Given the description of an element on the screen output the (x, y) to click on. 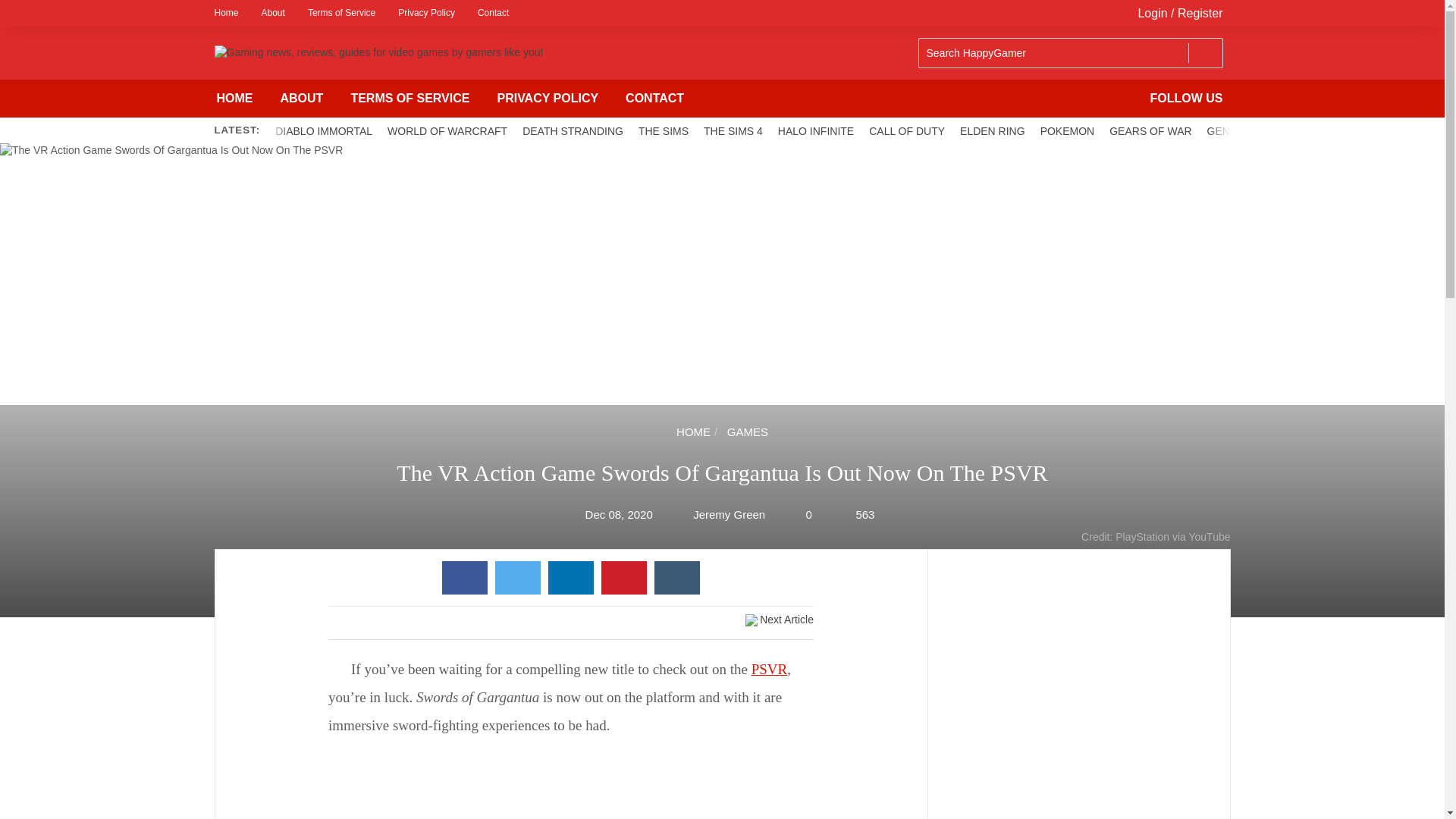
CONTACT (654, 98)
DIABLO IMMORTAL (323, 130)
THE SIMS (662, 130)
HALO INFINITE (815, 130)
About (273, 13)
PRIVACY POLICY (547, 98)
Home (231, 13)
THE SIMS 4 (732, 130)
CALL OF DUTY (906, 130)
About (273, 13)
